Given the description of an element on the screen output the (x, y) to click on. 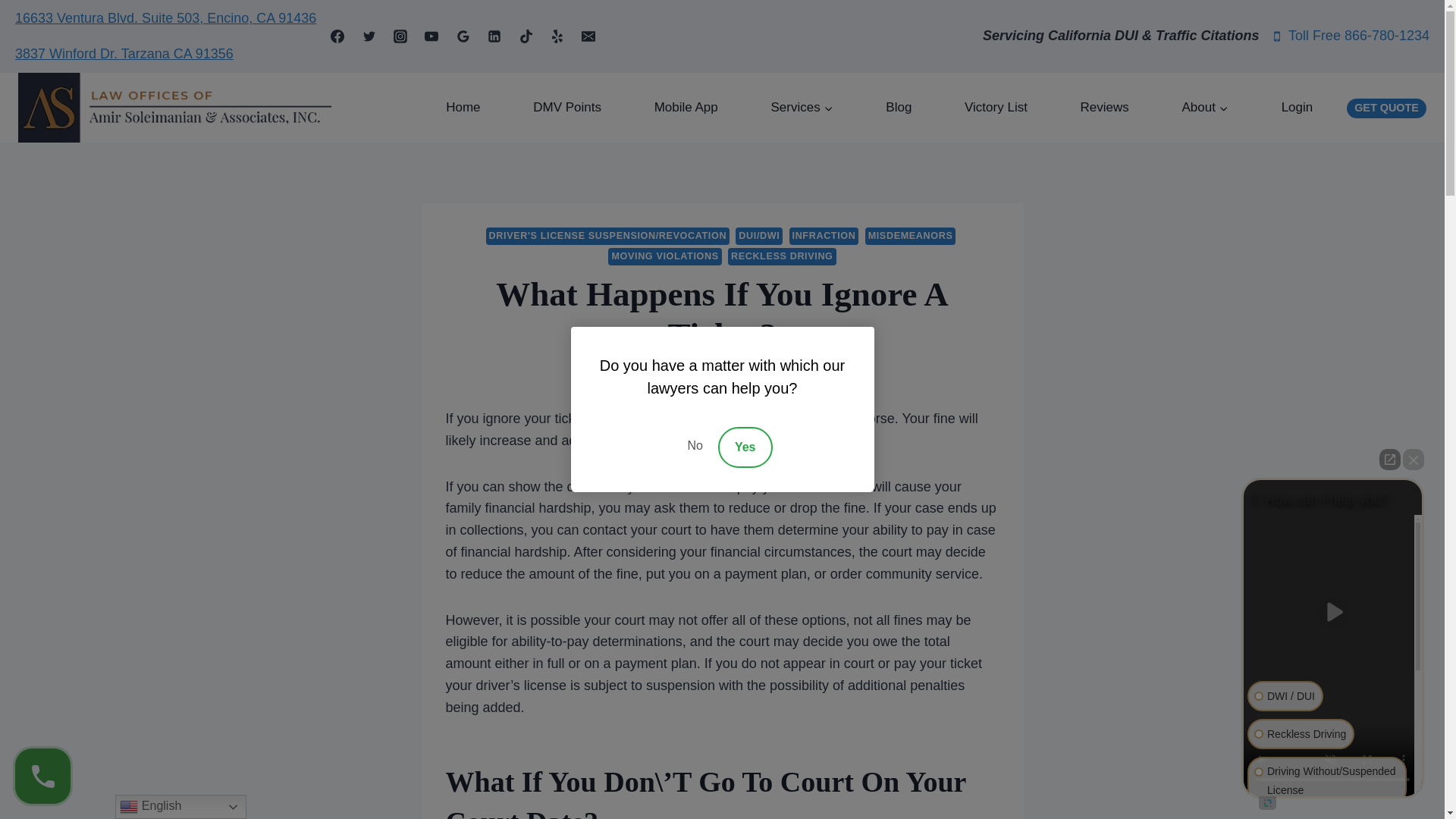
About (1205, 107)
Services (802, 107)
MOVING VIOLATIONS (664, 256)
Mobile App (685, 107)
Victory List (995, 107)
Toll Free 866-780-1234 (1349, 35)
Login (1297, 107)
Blog (899, 107)
RECKLESS DRIVING (781, 256)
16633 Ventura Blvd. Suite 503, Encino, CA 91436 (164, 17)
3837 Winford Dr. Tarzana CA 91356 (123, 53)
Home (462, 107)
INFRACTION (824, 235)
MISDEMEANORS (910, 235)
Reviews (1105, 107)
